Given the description of an element on the screen output the (x, y) to click on. 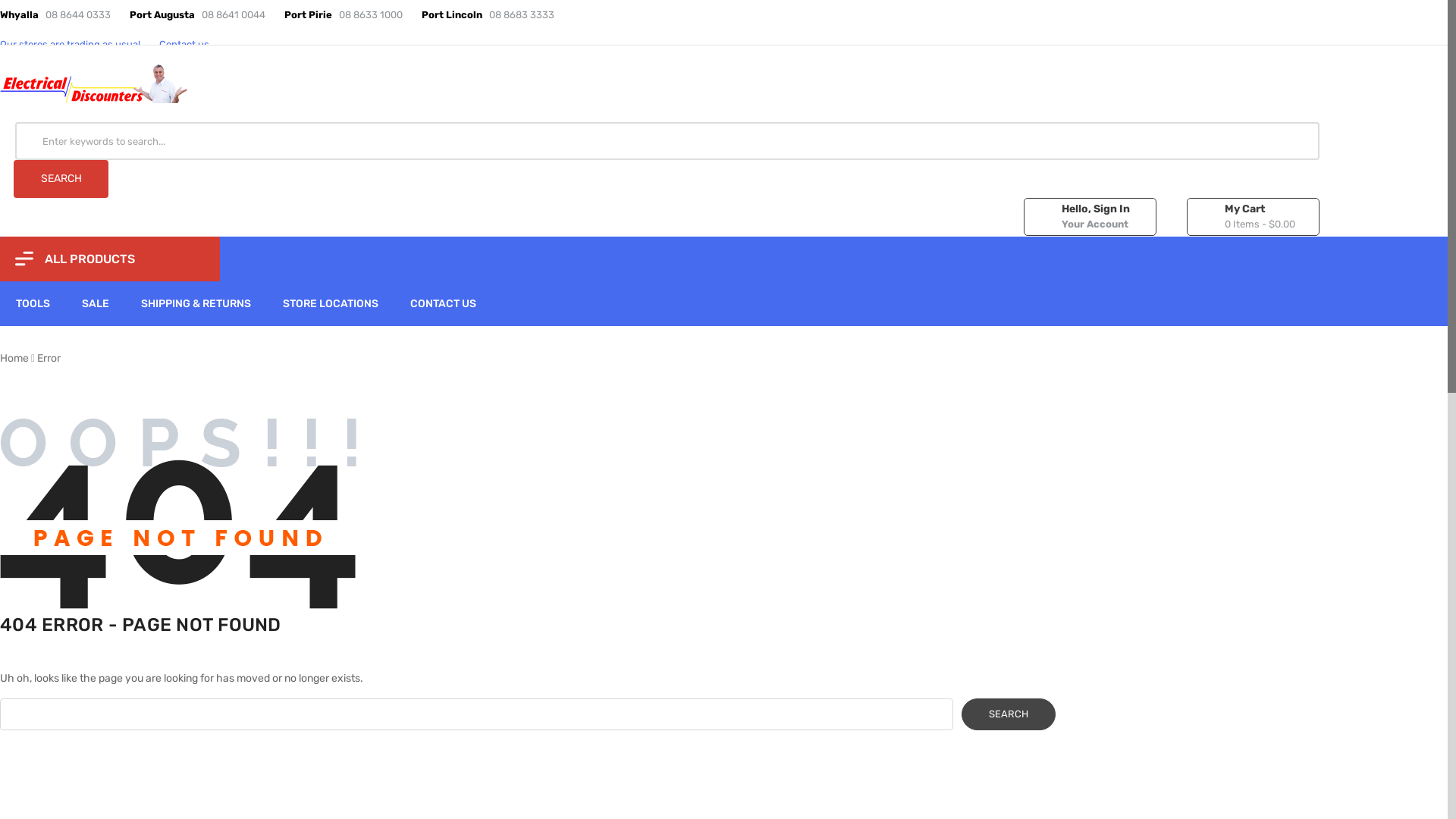
My Cart
0 Items - $0.00 Element type: text (1252, 216)
Home Element type: text (14, 357)
08 8633 1000 Element type: text (370, 14)
SALE Element type: text (95, 303)
Hello, Sign In
Your Account Element type: text (1089, 216)
Port Augusta Element type: text (161, 14)
Error Element type: text (48, 357)
08 8641 0044 Element type: text (233, 14)
Whyalla Element type: text (19, 14)
08 8683 3333 Element type: text (521, 14)
08 8644 0333 Element type: text (77, 14)
TOOLS Element type: text (32, 303)
Our stores are trading as usual Element type: text (70, 44)
Port Lincoln Element type: text (451, 14)
STORE LOCATIONS Element type: text (330, 303)
Electrical Discounters Element type: hover (94, 83)
SHIPPING & RETURNS Element type: text (195, 303)
Search Element type: text (1008, 714)
ALL PRODUCTS Element type: text (109, 258)
SEARCH Element type: text (60, 178)
CONTACT US Element type: text (443, 303)
Contact us Element type: text (184, 44)
Port Pirie Element type: text (308, 14)
